Given the description of an element on the screen output the (x, y) to click on. 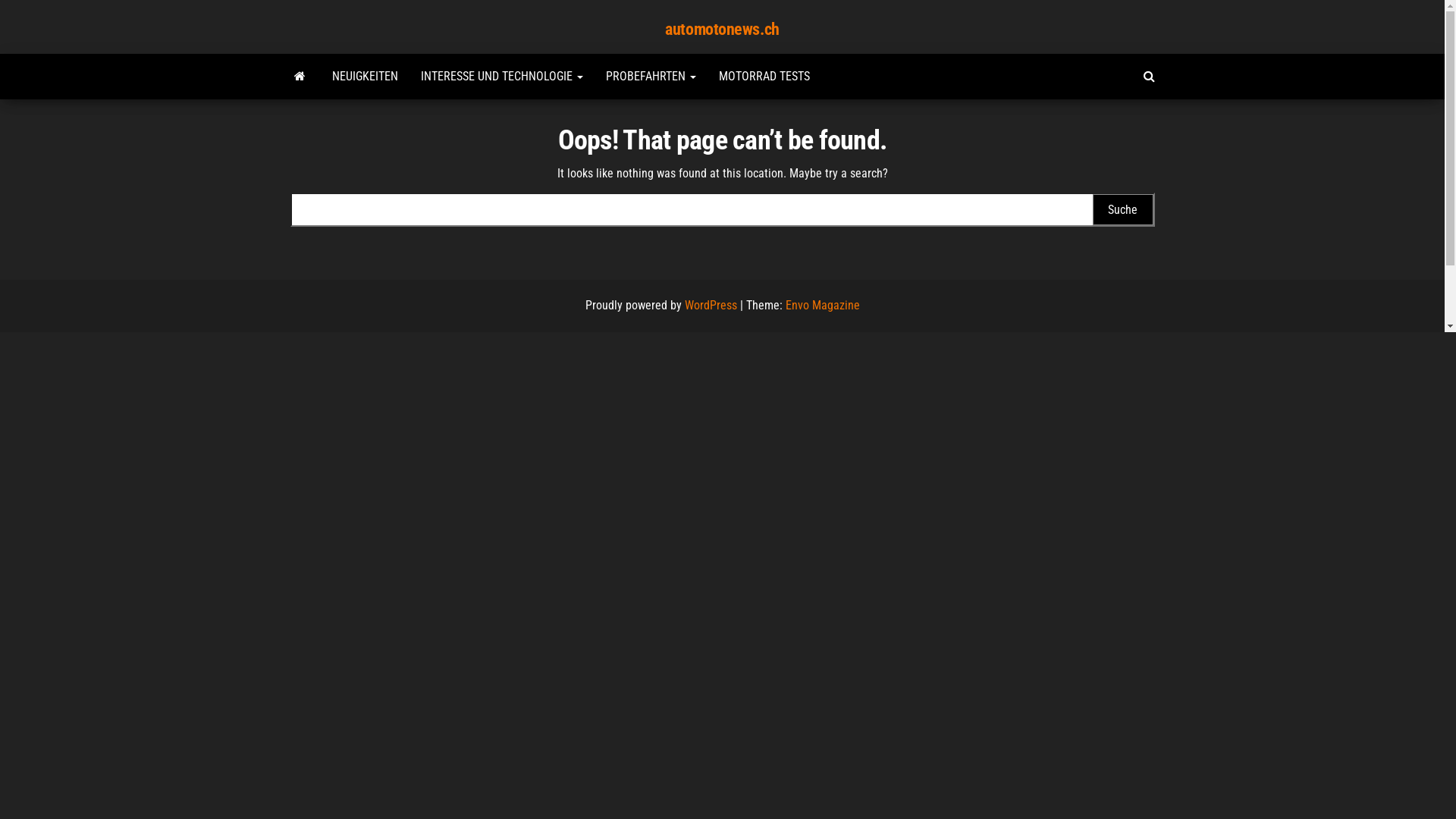
PROBEFAHRTEN Element type: text (650, 76)
automotonews.ch Element type: text (721, 28)
WordPress Element type: text (710, 305)
INTERESSE UND TECHNOLOGIE Element type: text (501, 76)
automotonews.ch Element type: hover (299, 76)
MOTORRAD TESTS Element type: text (763, 76)
NEUIGKEITEN Element type: text (364, 76)
Envo Magazine Element type: text (822, 305)
Suche Element type: text (1122, 209)
